Given the description of an element on the screen output the (x, y) to click on. 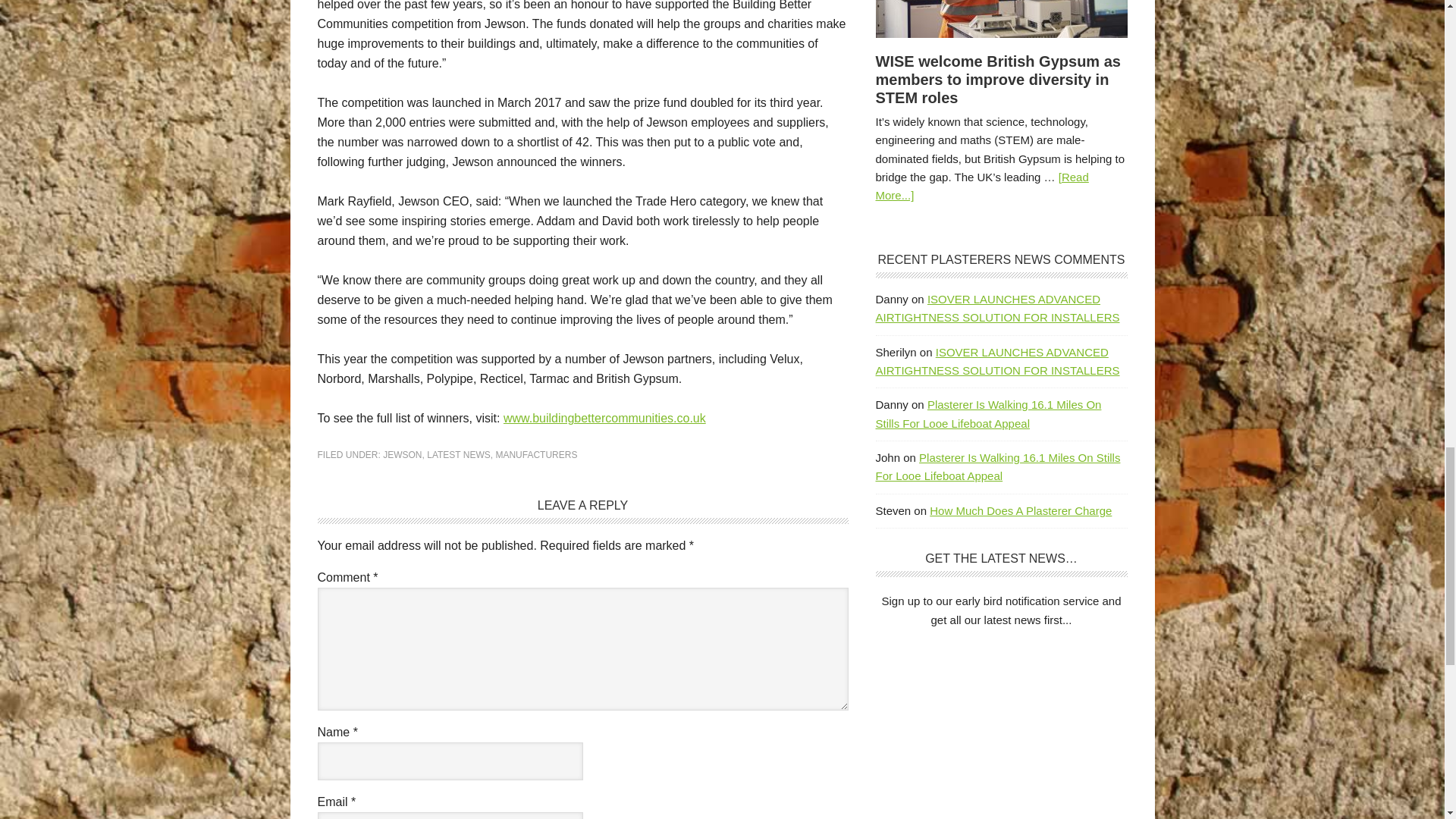
LATEST NEWS (458, 454)
www.buildingbettercommunities.co.uk (604, 418)
MANUFACTURERS (535, 454)
JEWSON (402, 454)
